Given the description of an element on the screen output the (x, y) to click on. 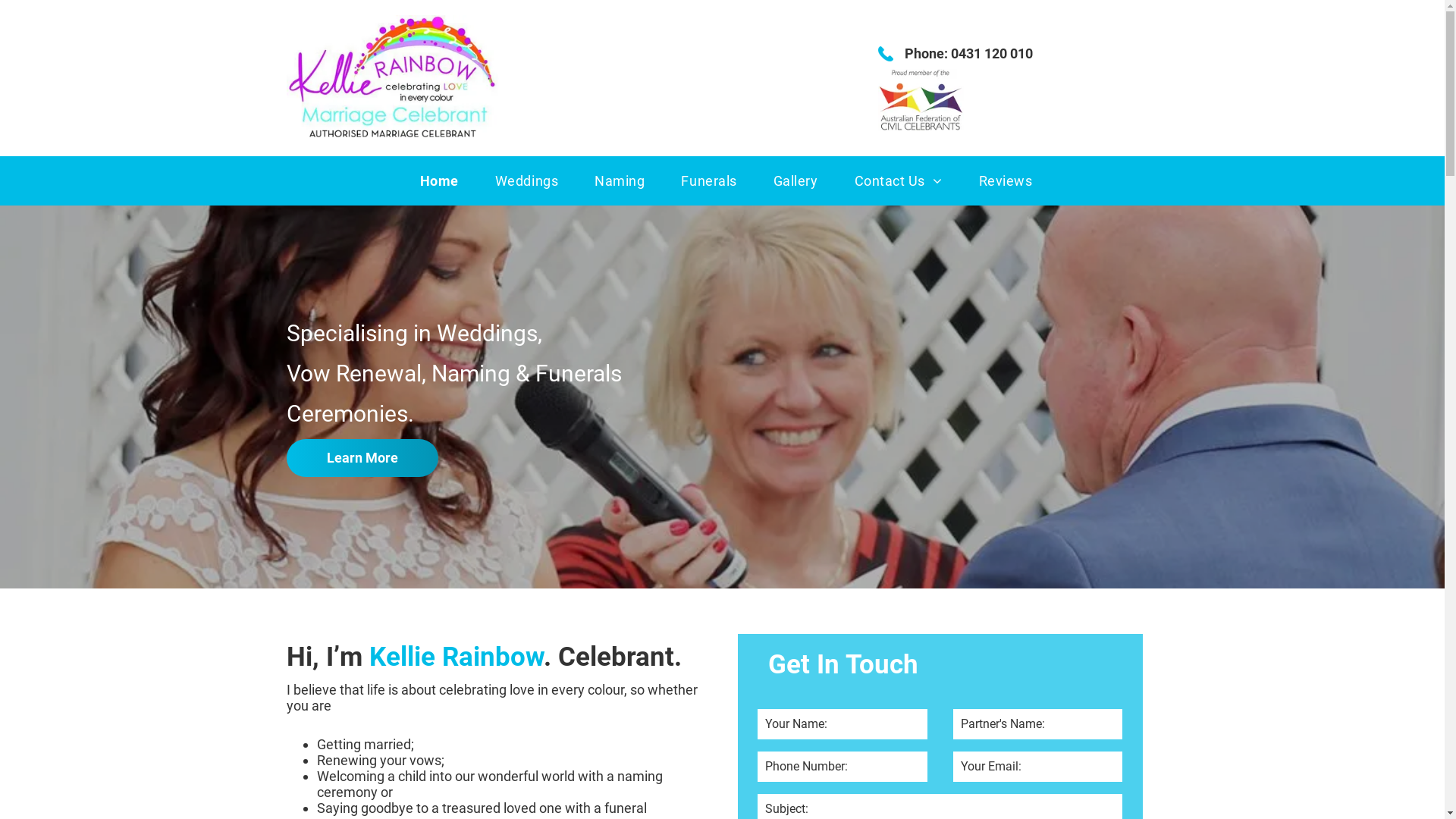
Home Element type: text (438, 180)
Weddings Element type: text (526, 180)
Funerals Element type: text (708, 180)
Gallery Element type: text (795, 180)
0431 120 010 Element type: text (991, 53)
Naming Element type: text (619, 180)
Reviews Element type: text (1005, 180)
Learn More Element type: text (362, 457)
Contact Us Element type: text (898, 180)
